Given the description of an element on the screen output the (x, y) to click on. 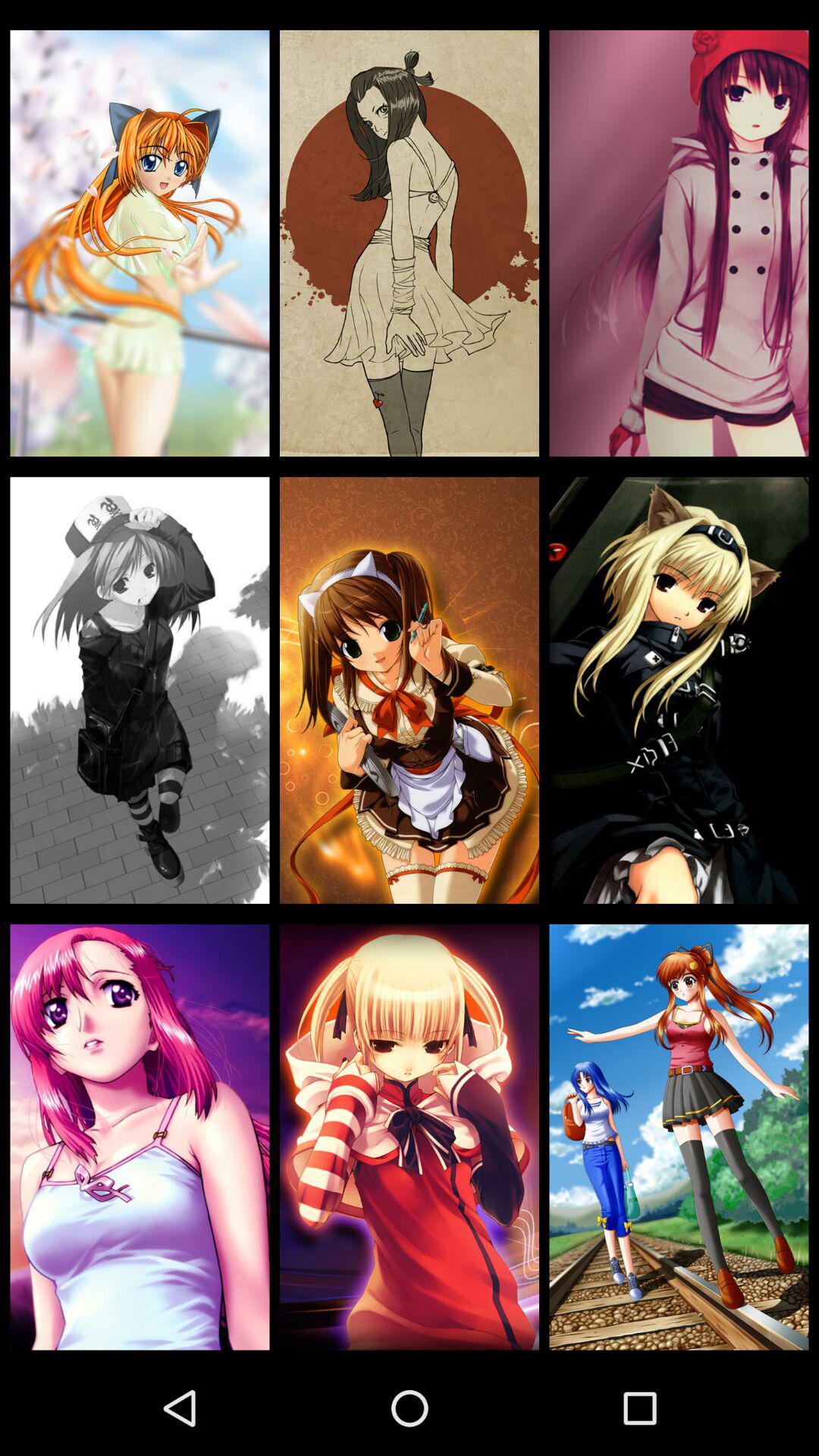
launch item at the bottom right corner (678, 1137)
